Given the description of an element on the screen output the (x, y) to click on. 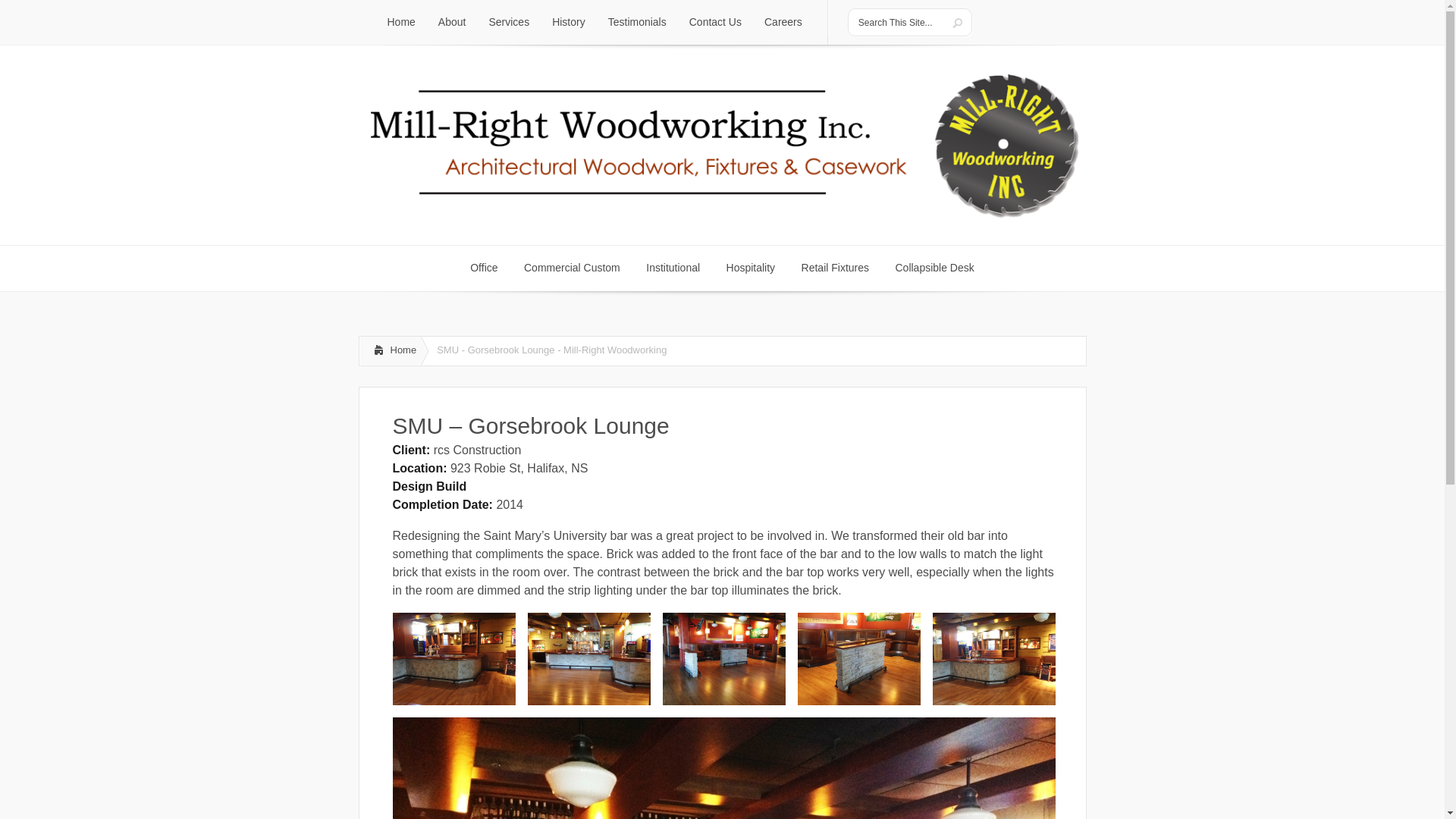
About (934, 267)
History (451, 22)
bold (835, 267)
Contact Us (568, 22)
Careers (571, 267)
Services (750, 267)
Testimonials (934, 267)
Home (715, 22)
Search This Site... (782, 22)
